Given the description of an element on the screen output the (x, y) to click on. 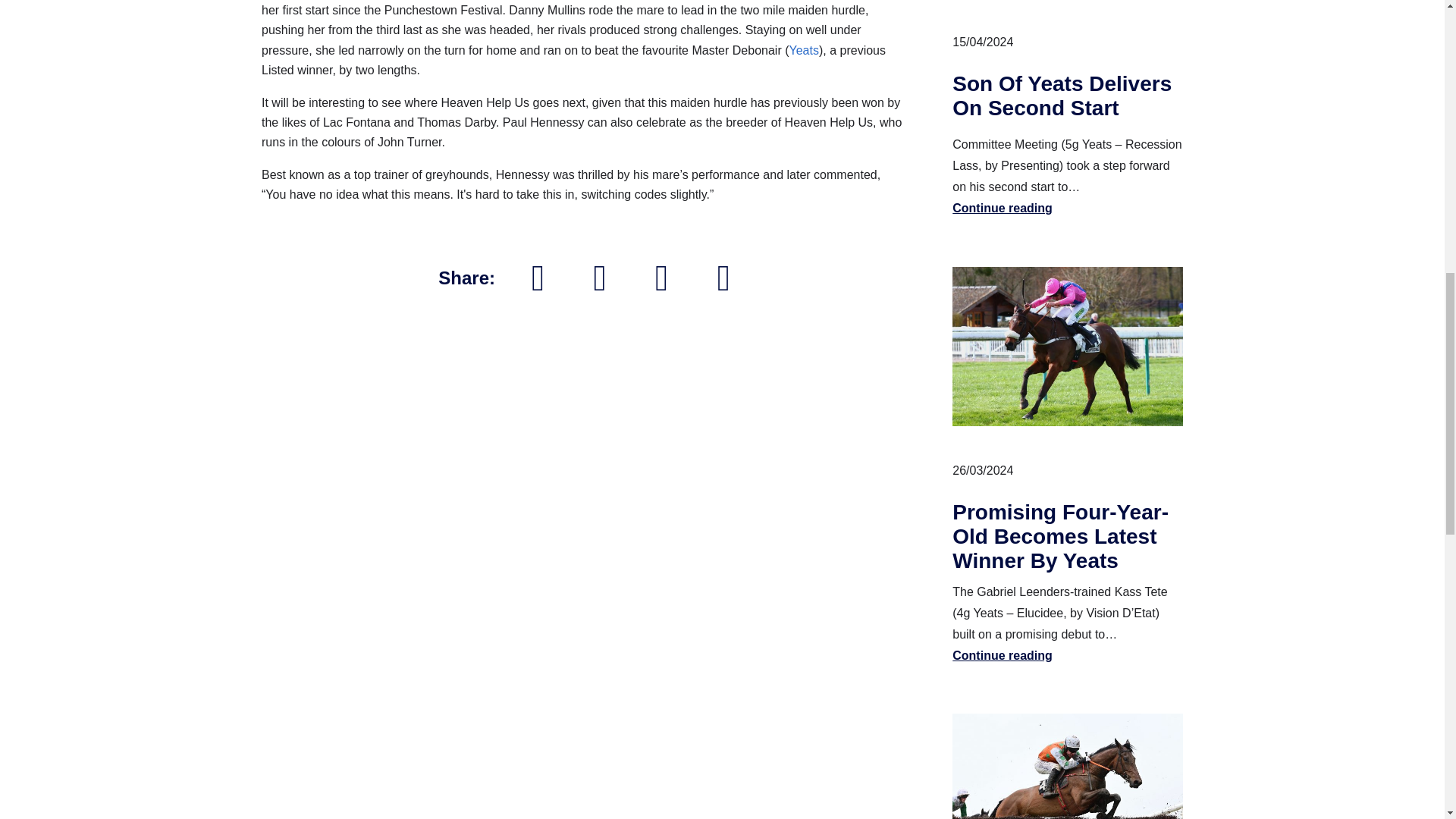
Yeats (803, 50)
